Given the description of an element on the screen output the (x, y) to click on. 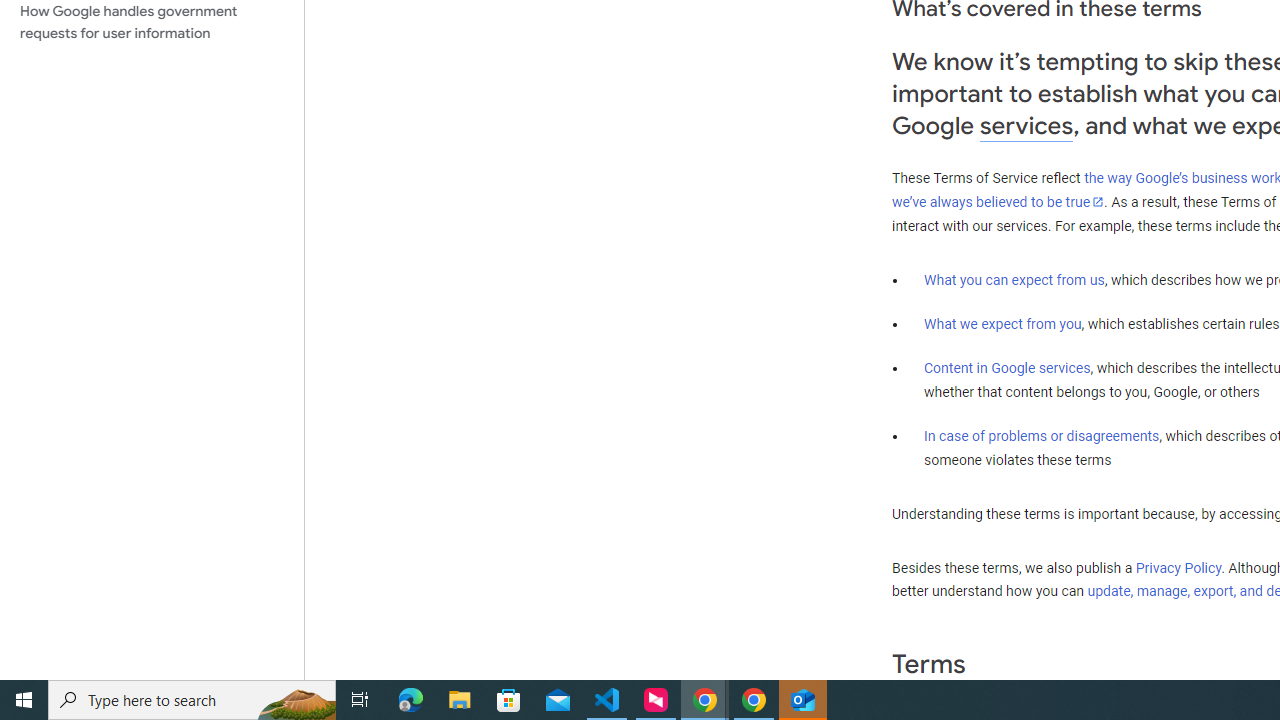
Content in Google services (1007, 368)
What you can expect from us (1014, 279)
In case of problems or disagreements (1041, 435)
What we expect from you (1002, 323)
services (1026, 125)
